Given the description of an element on the screen output the (x, y) to click on. 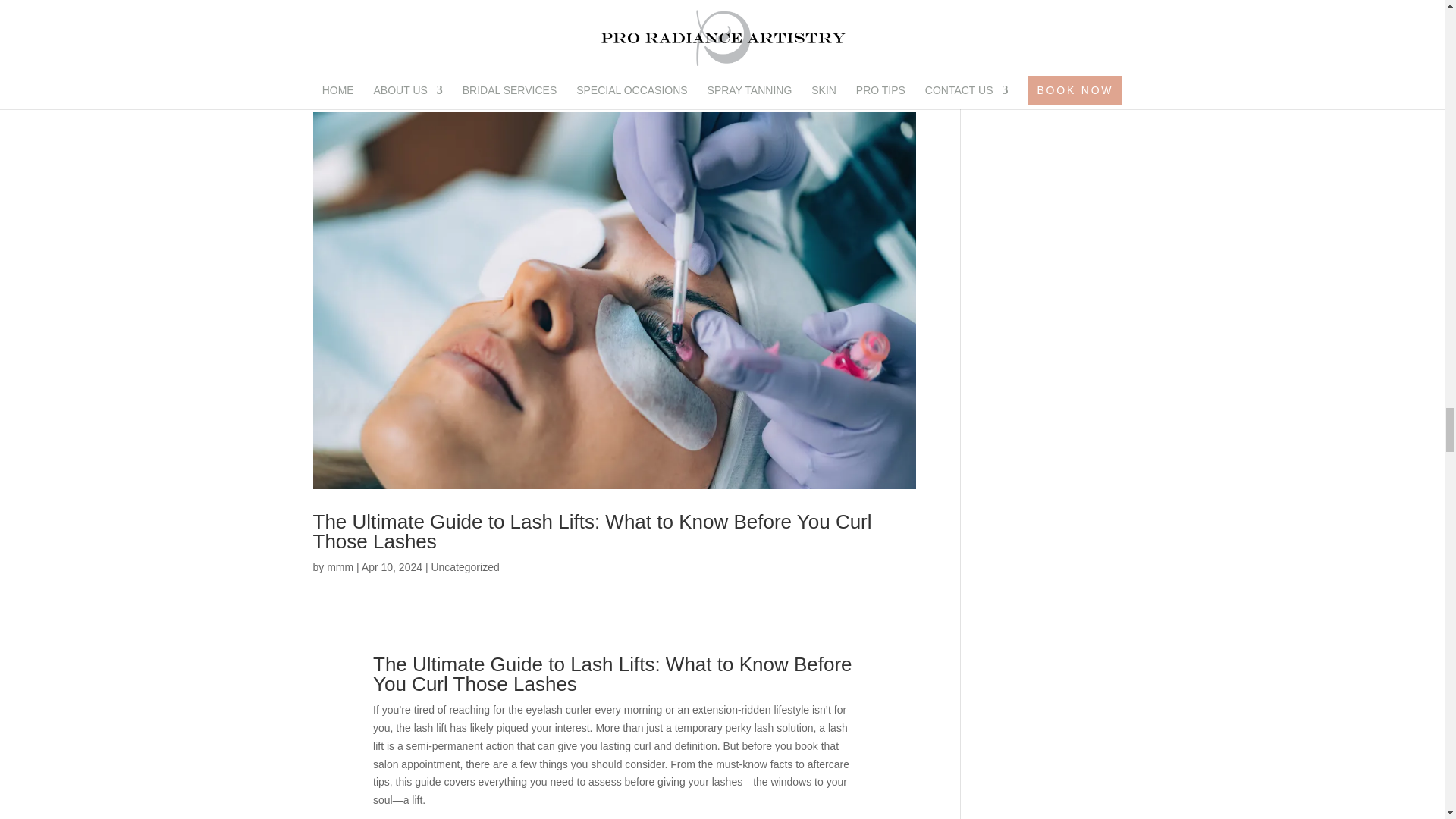
Posts by mmm (339, 567)
mmm (339, 567)
Uncategorized (464, 567)
